Given the description of an element on the screen output the (x, y) to click on. 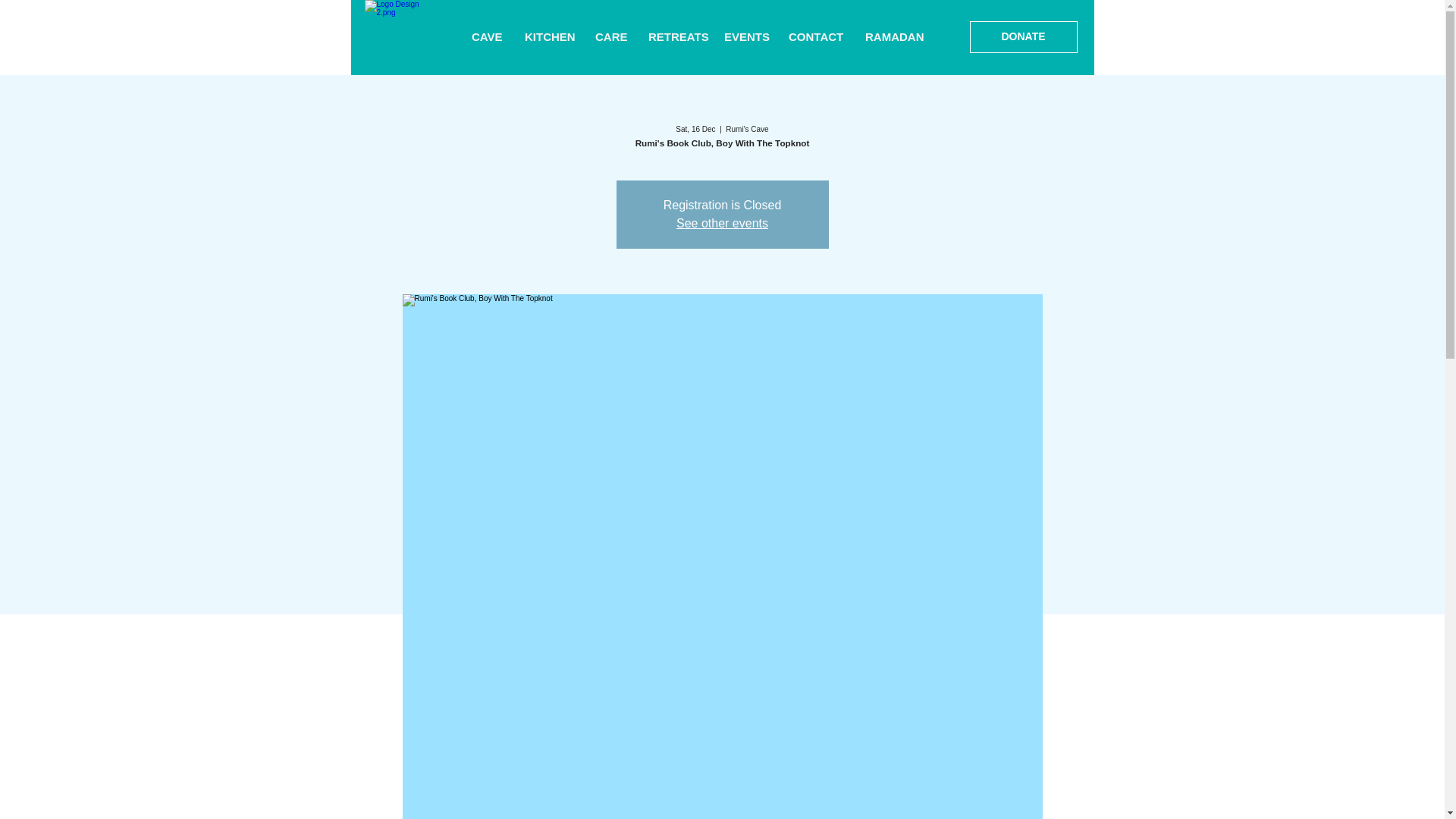
See other events (722, 223)
EVENTS (745, 37)
CAVE (486, 37)
DONATE (1023, 37)
CONTACT (815, 37)
RETREATS (675, 37)
CARE (610, 37)
RAMADAN (893, 37)
KITCHEN (548, 37)
